Given the description of an element on the screen output the (x, y) to click on. 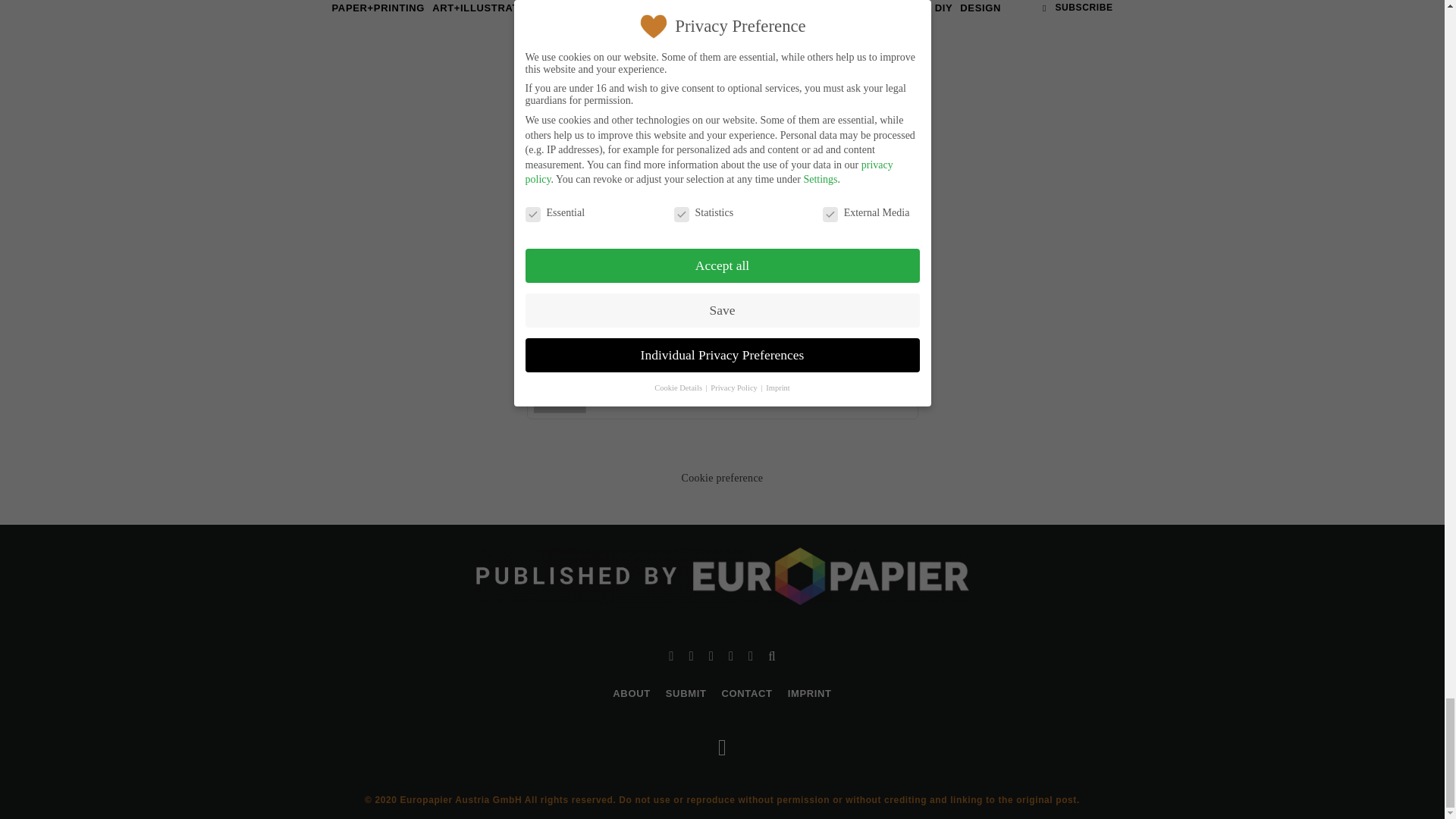
1 (660, 302)
